Given the description of an element on the screen output the (x, y) to click on. 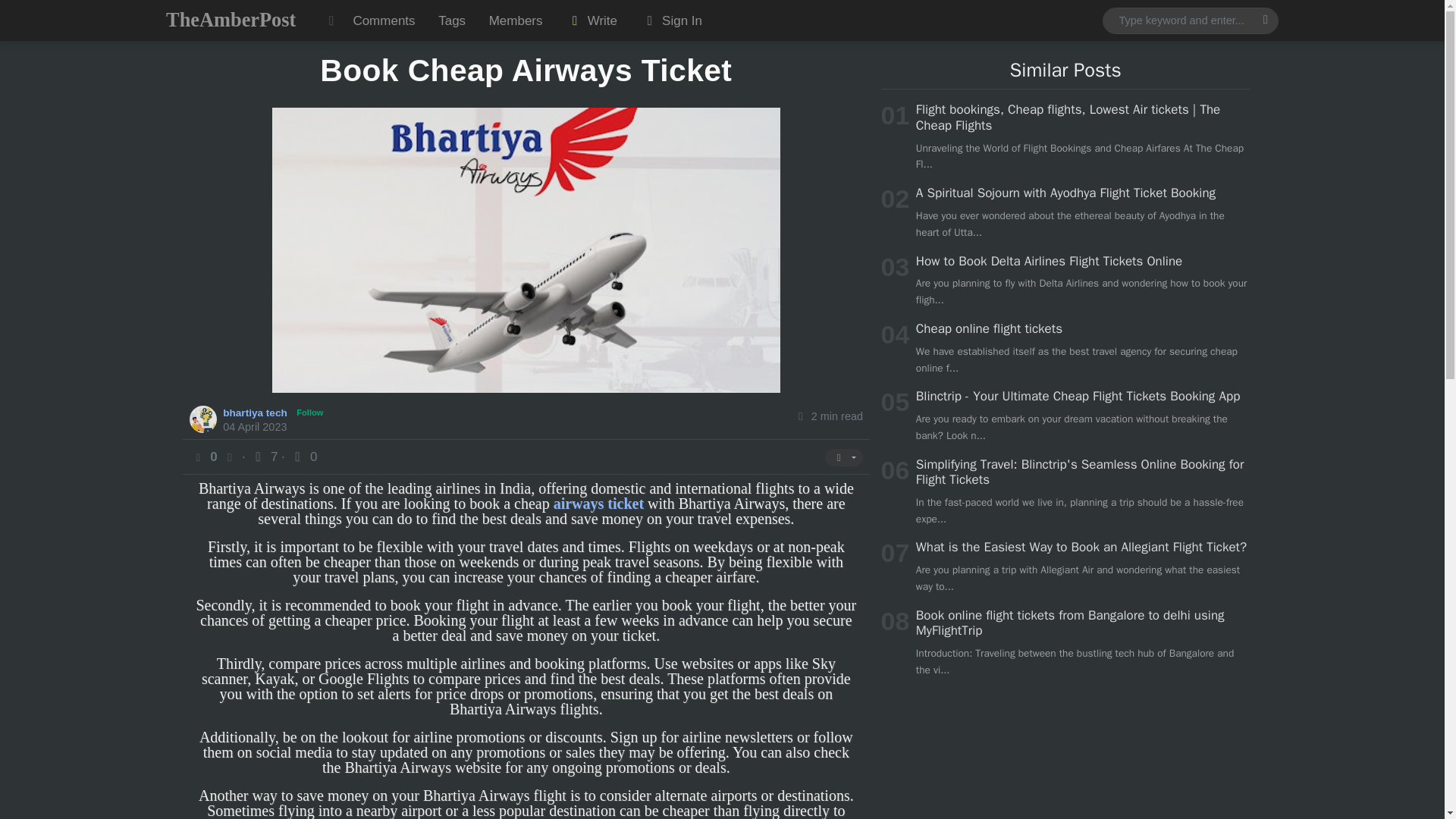
Toggle dark mode (330, 20)
Members (515, 20)
Comments (383, 20)
Views (264, 456)
0 (302, 456)
How to Book Delta Airlines Flight Tickets Online (1048, 261)
Write (591, 20)
Sign In (670, 20)
A Spiritual Sojourn with Ayodhya Flight Ticket Booking (1065, 192)
Follow (310, 412)
TheAmberPost (230, 20)
What is the Easiest Way to Book an Allegiant Flight Ticket? (1080, 546)
Blinctrip - Your Ultimate Cheap Flight Tickets Booking App (1077, 396)
